Given the description of an element on the screen output the (x, y) to click on. 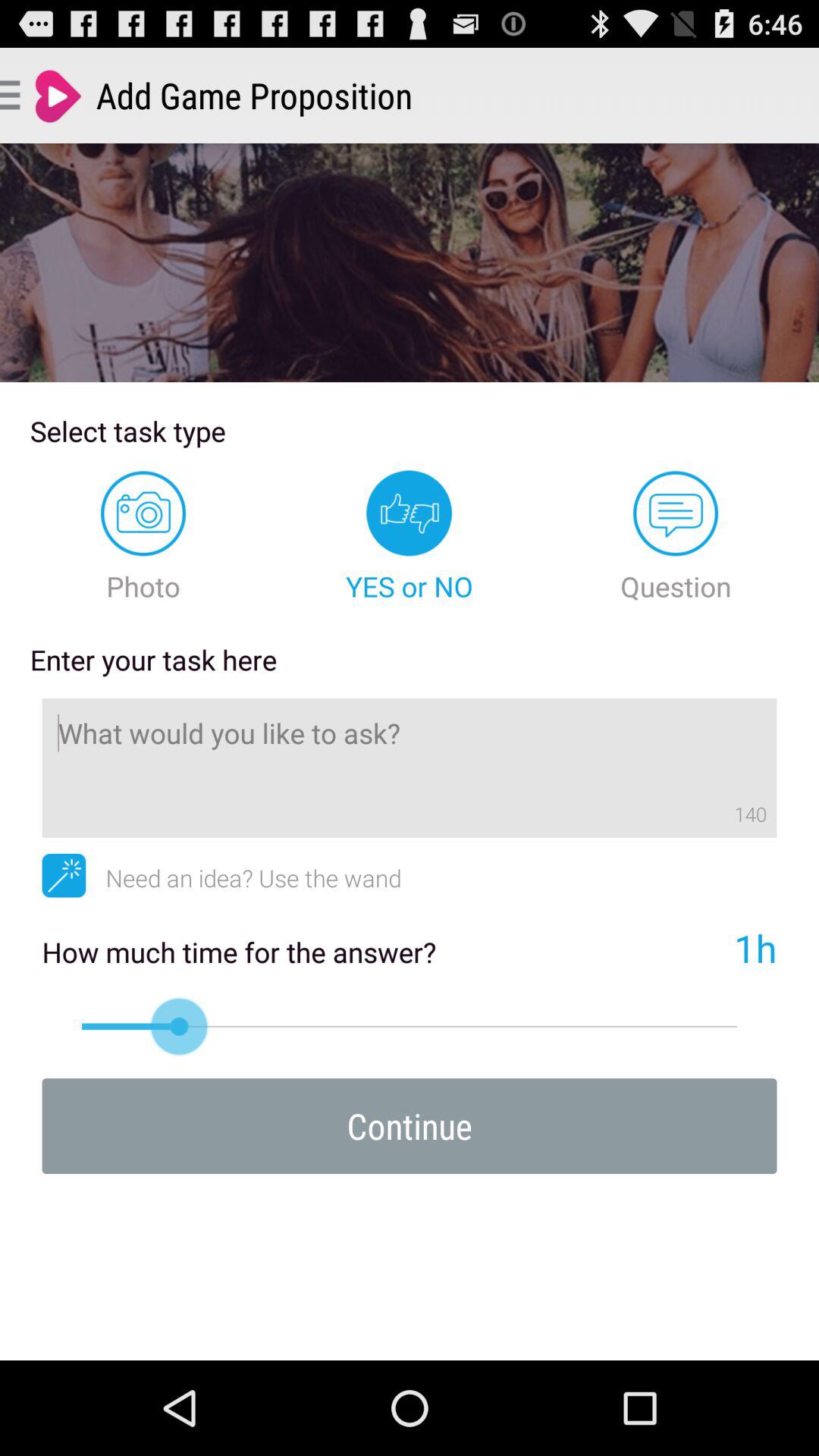
typing (409, 767)
